Given the description of an element on the screen output the (x, y) to click on. 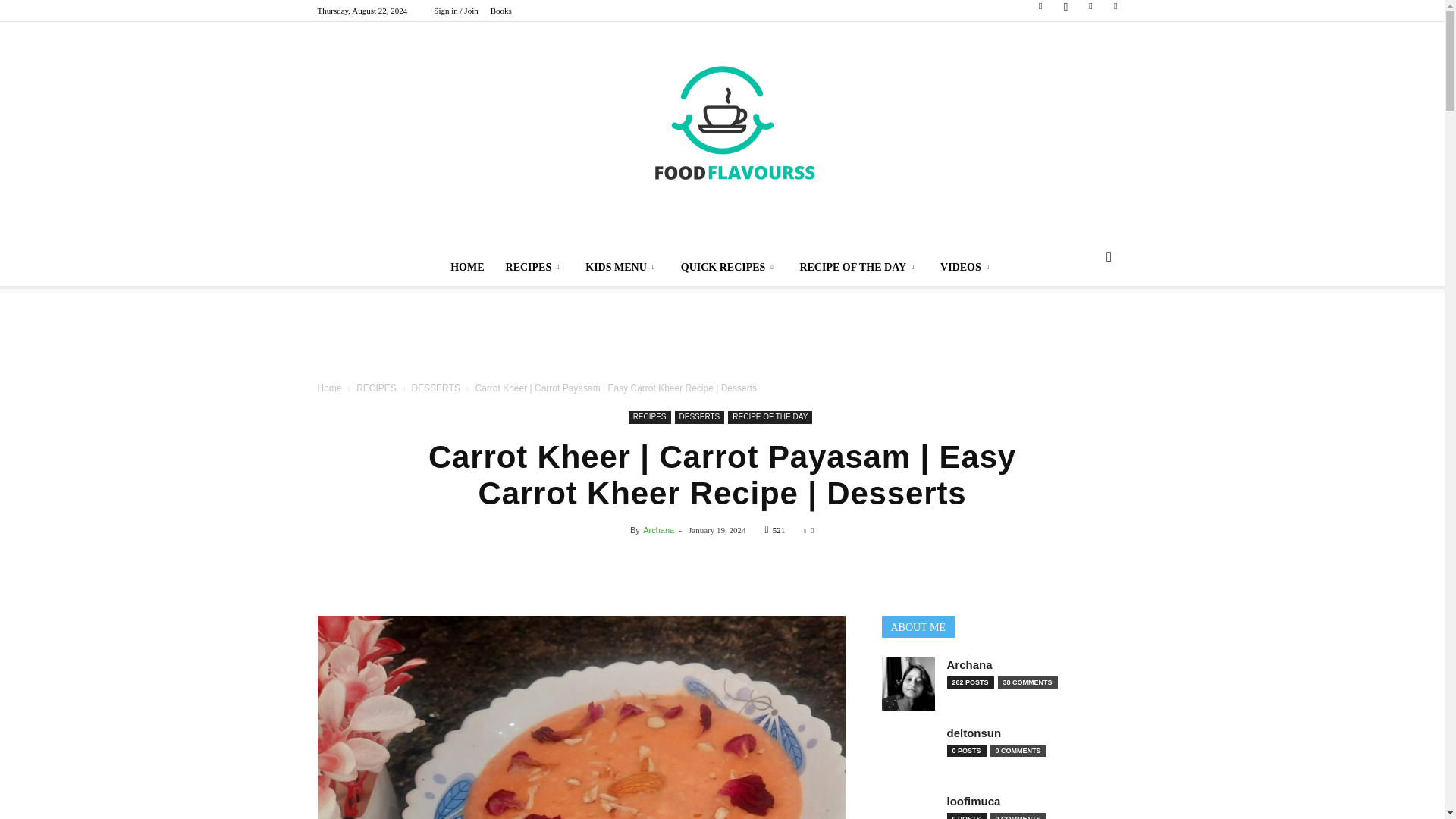
RECIPES (535, 267)
Pinterest (1090, 10)
Instagram (1065, 10)
Books (501, 10)
Youtube (1114, 10)
HOME (467, 267)
Facebook (1040, 10)
